Given the description of an element on the screen output the (x, y) to click on. 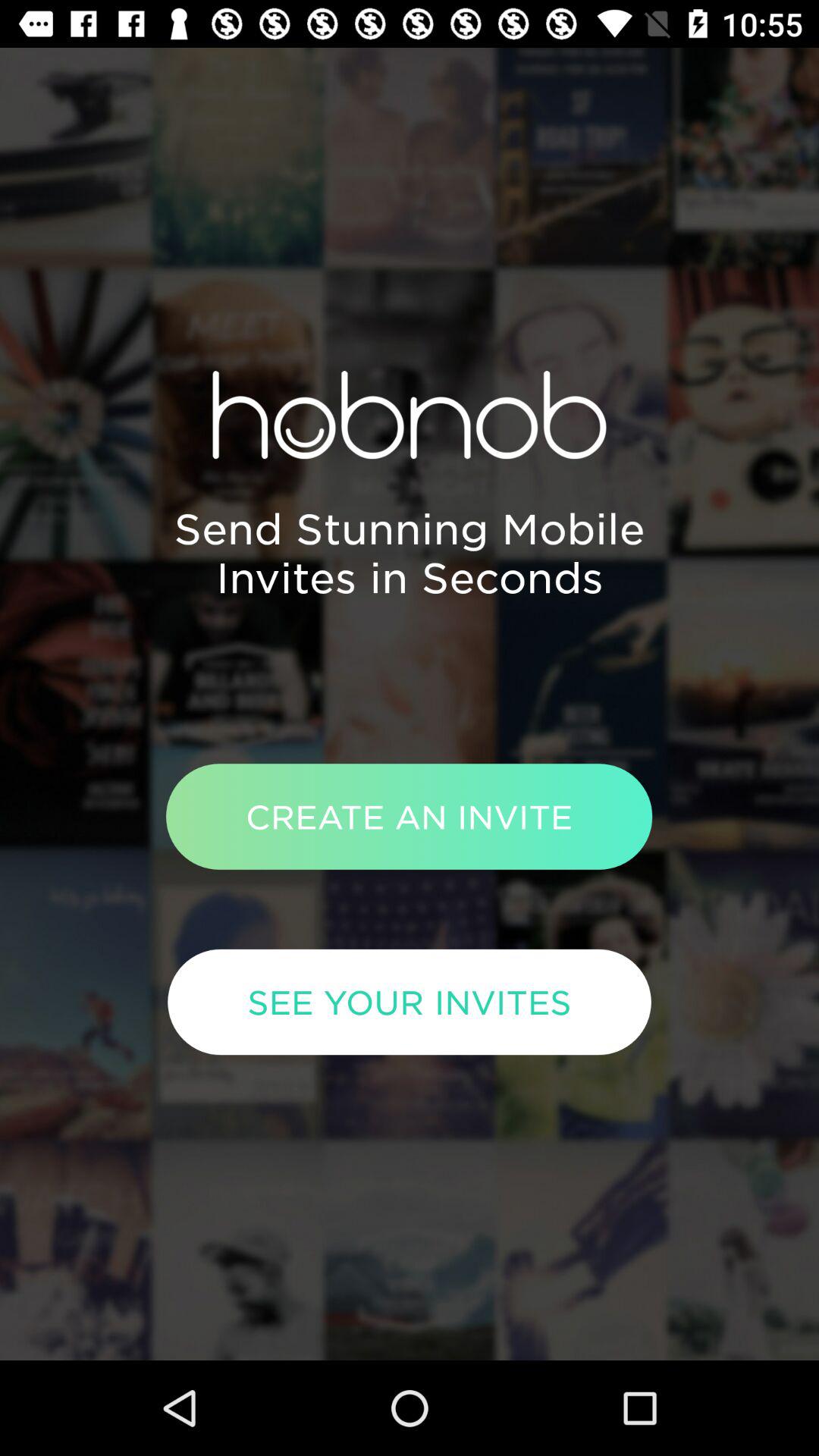
jump until the create an invite (409, 816)
